Given the description of an element on the screen output the (x, y) to click on. 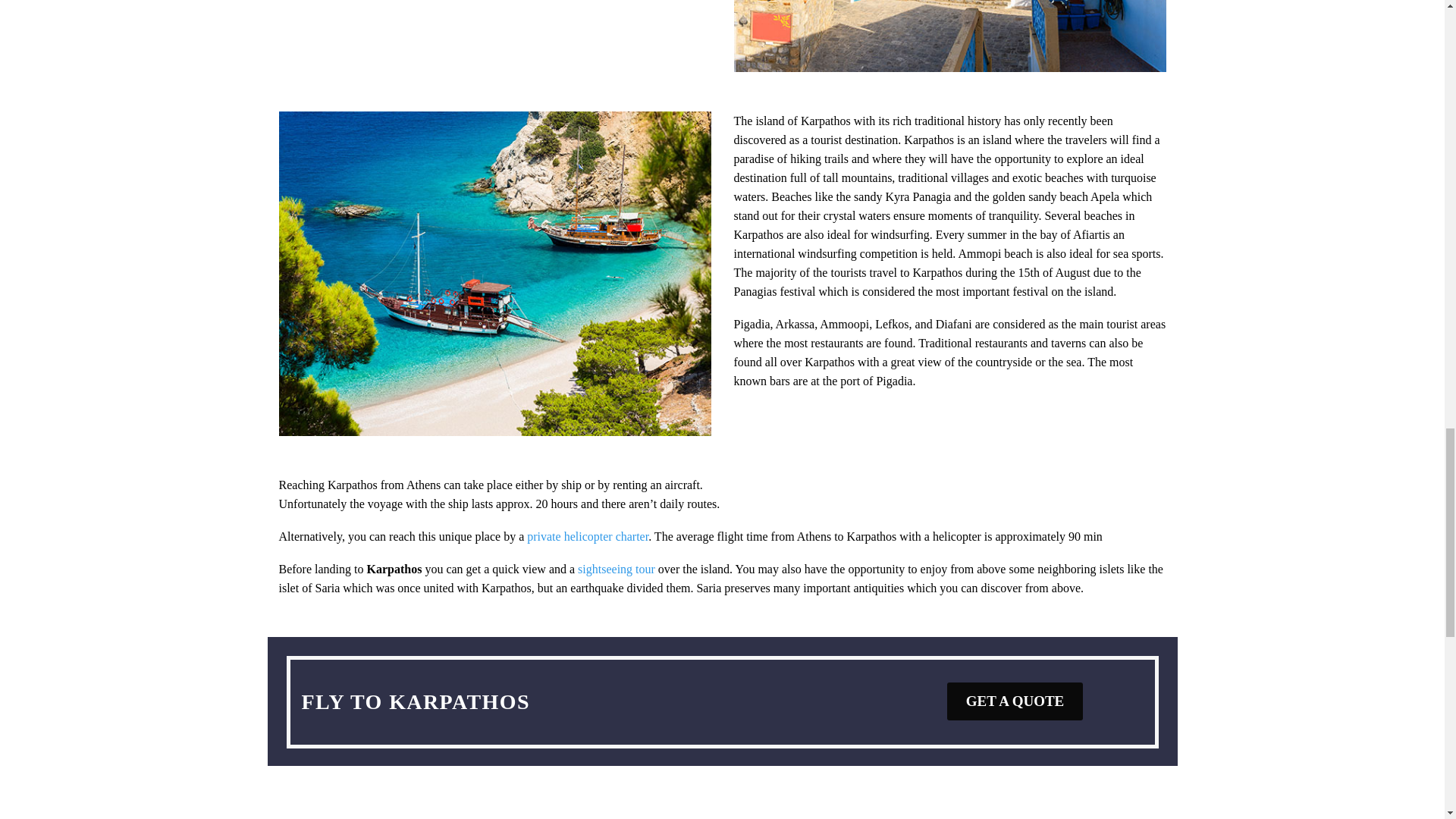
karpathos-destinations-airlift (949, 36)
